Given the description of an element on the screen output the (x, y) to click on. 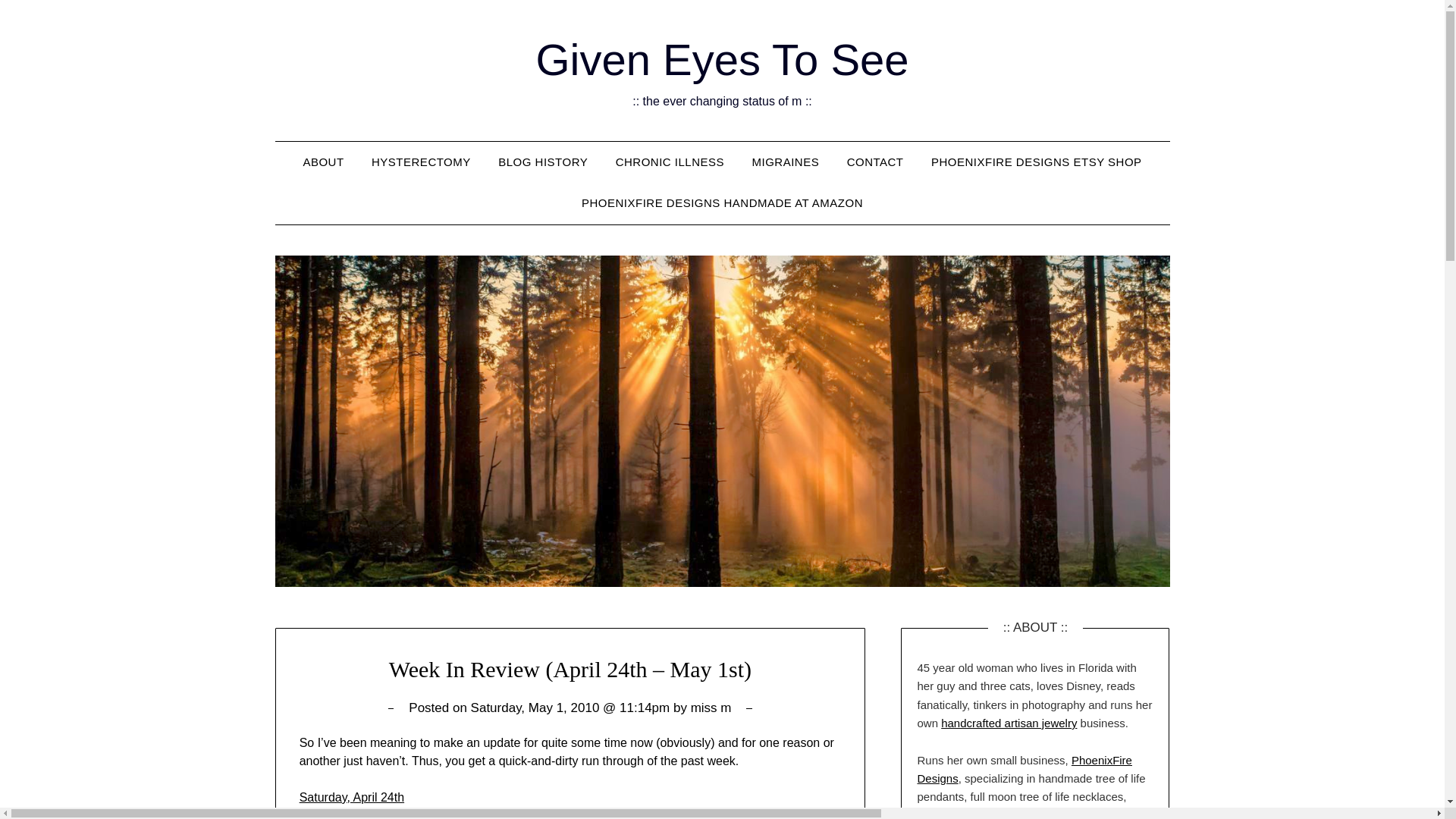
PhoenixFire Designs (1024, 768)
BLOG HISTORY (542, 161)
CONTACT (874, 161)
miss m (711, 707)
handcrafted artisan jewelry (1008, 722)
CHRONIC ILLNESS (670, 161)
PHOENIXFIRE DESIGNS ETSY SHOP (1036, 161)
HYSTERECTOMY (421, 161)
MIGRAINES (785, 161)
PHOENIXFIRE DESIGNS HANDMADE AT AMAZON (722, 202)
Given Eyes To See (721, 59)
ABOUT (322, 161)
